Given the description of an element on the screen output the (x, y) to click on. 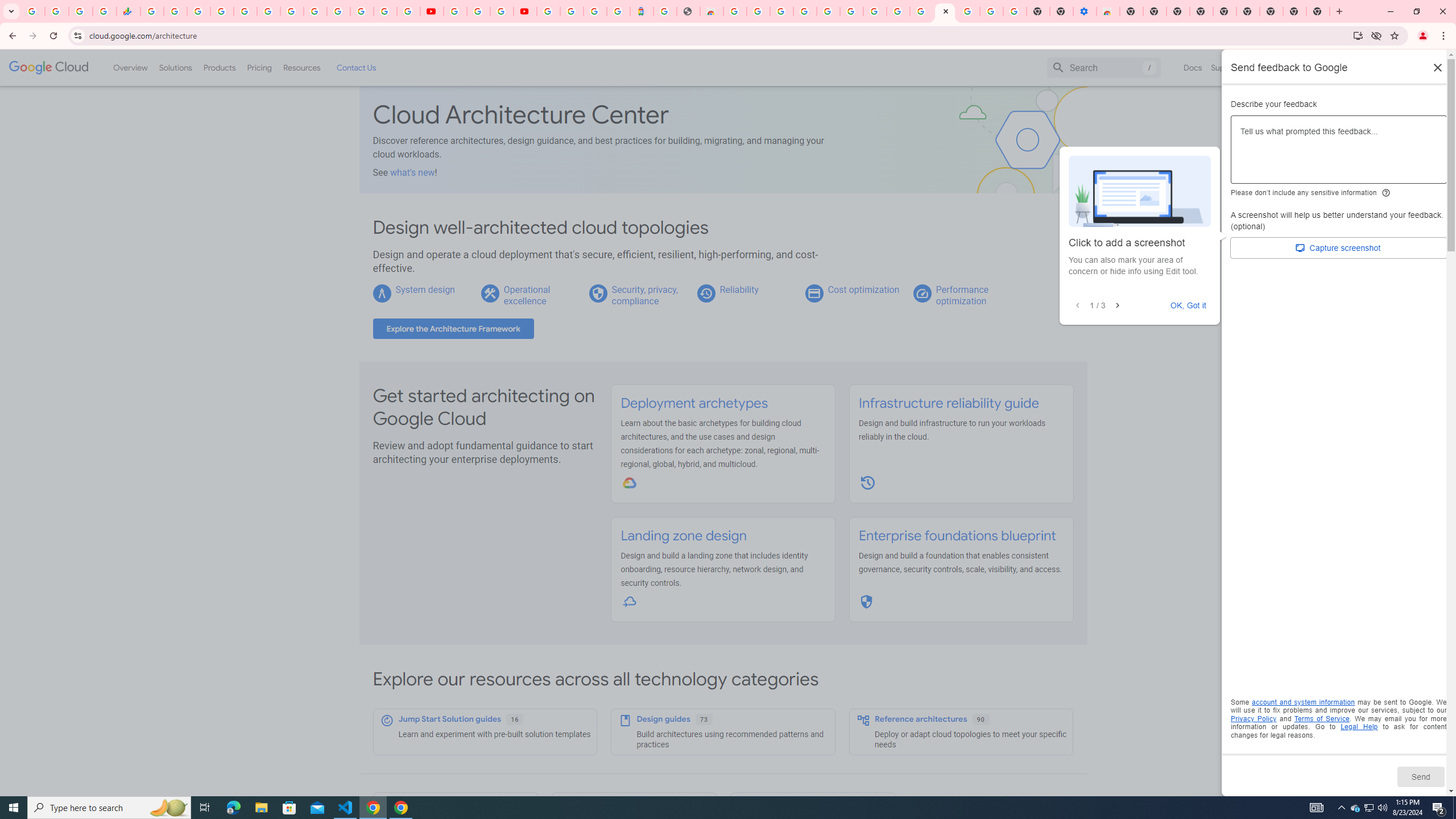
YouTube (454, 11)
